Given the description of an element on the screen output the (x, y) to click on. 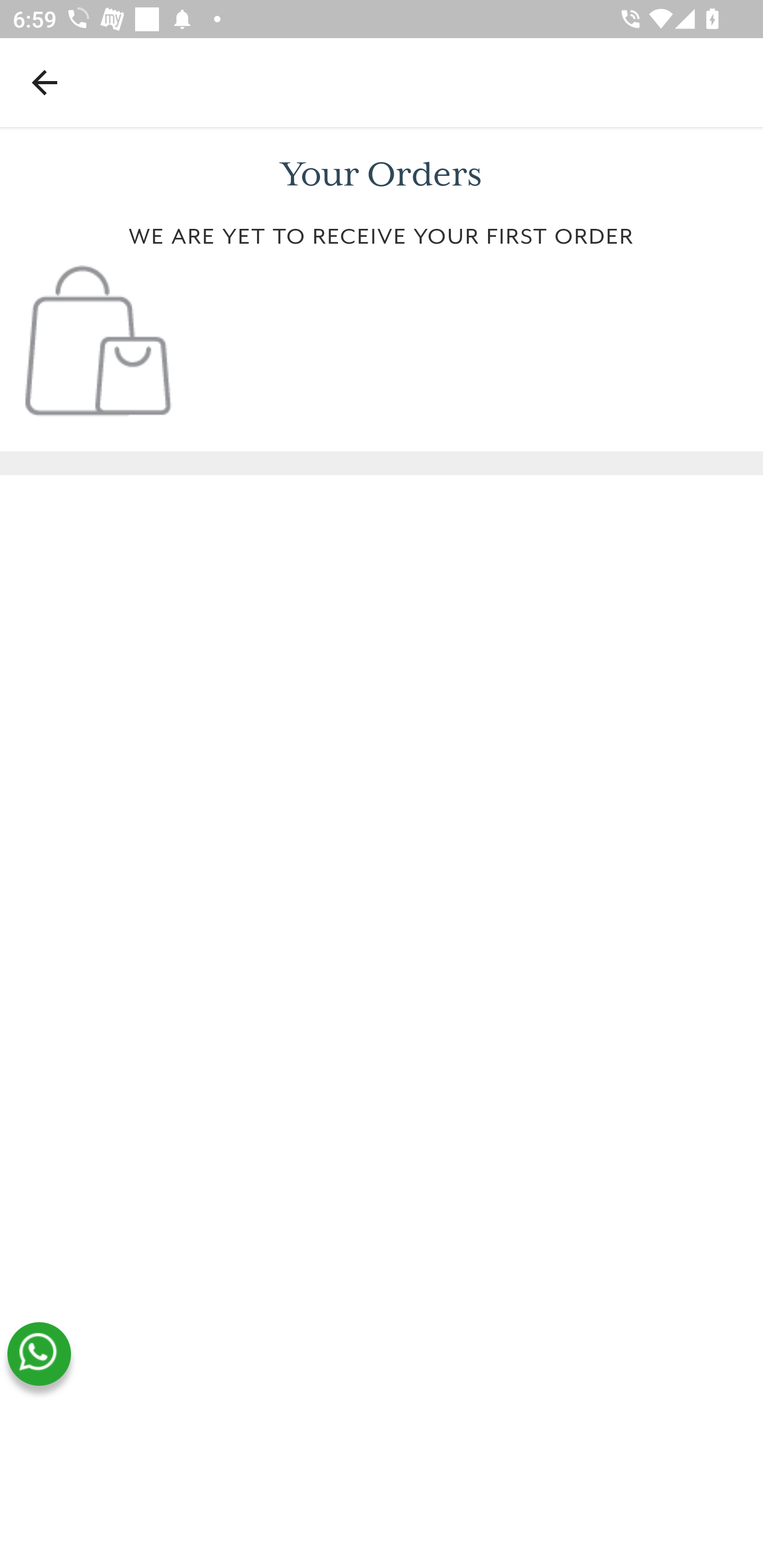
Navigate up (44, 82)
whatsapp (38, 1353)
